Given the description of an element on the screen output the (x, y) to click on. 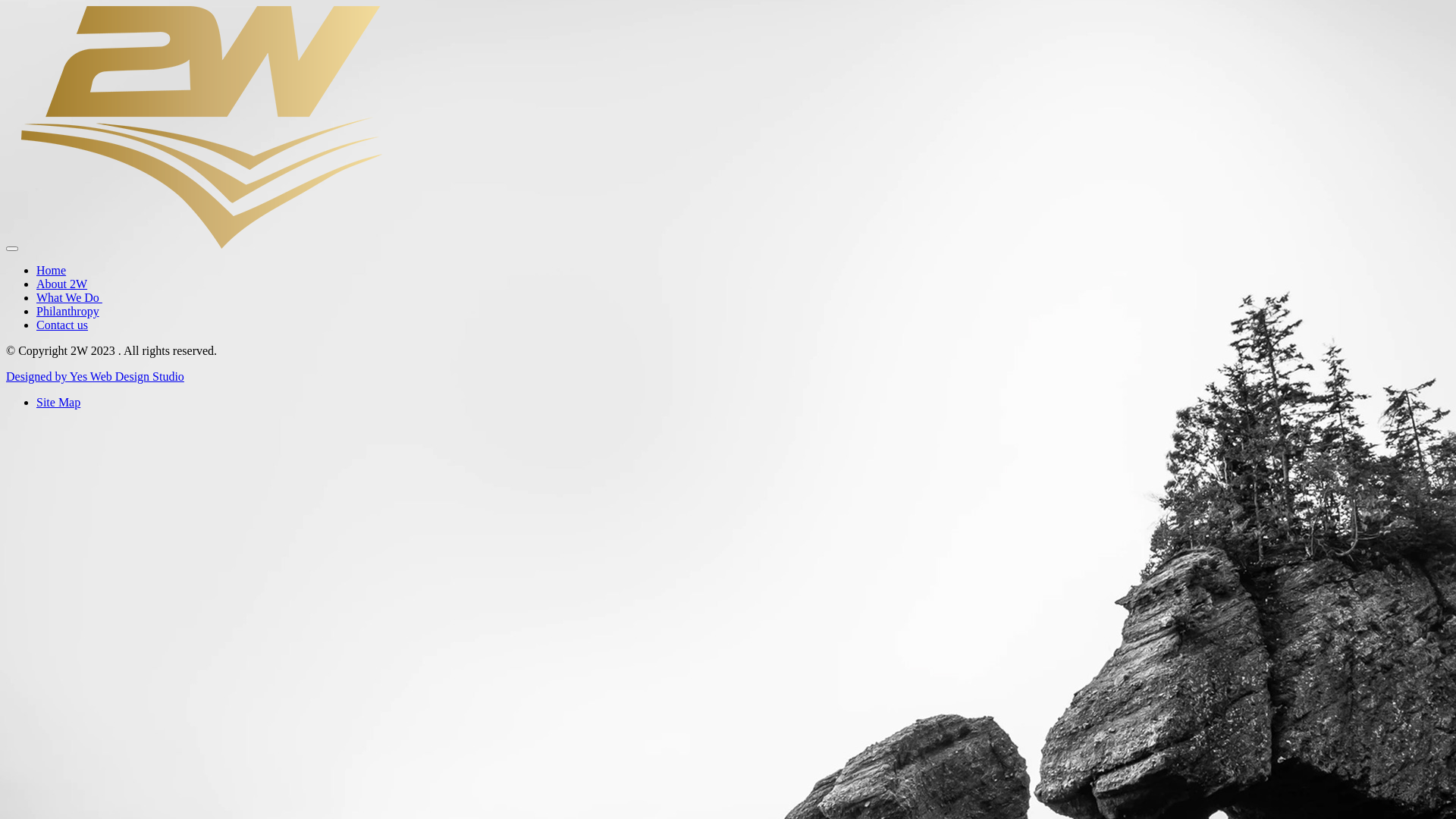
Site Map Element type: text (58, 401)
2W Element type: hover (201, 244)
About 2W Element type: text (61, 283)
Designed by Yes Web Design Studio Element type: text (95, 376)
Contact us Element type: text (61, 324)
What We Do  Element type: text (69, 297)
Philanthropy Element type: text (67, 310)
Home Element type: text (50, 269)
